Given the description of an element on the screen output the (x, y) to click on. 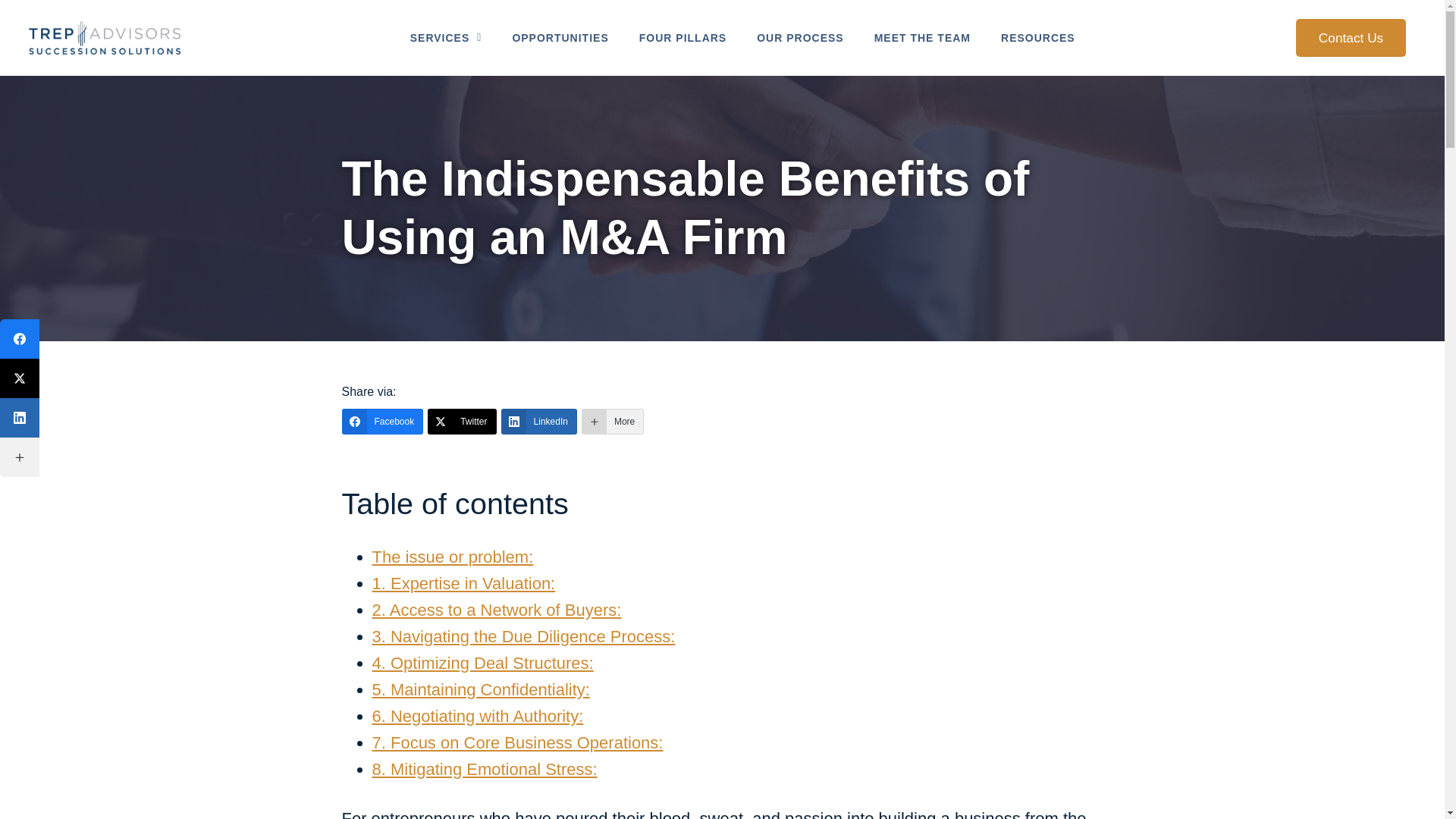
Contact Us (1350, 37)
FOUR PILLARS (682, 38)
SERVICES (445, 38)
OUR PROCESS (800, 38)
RESOURCES (1037, 38)
OPPORTUNITIES (559, 38)
MEET THE TEAM (922, 38)
